Given the description of an element on the screen output the (x, y) to click on. 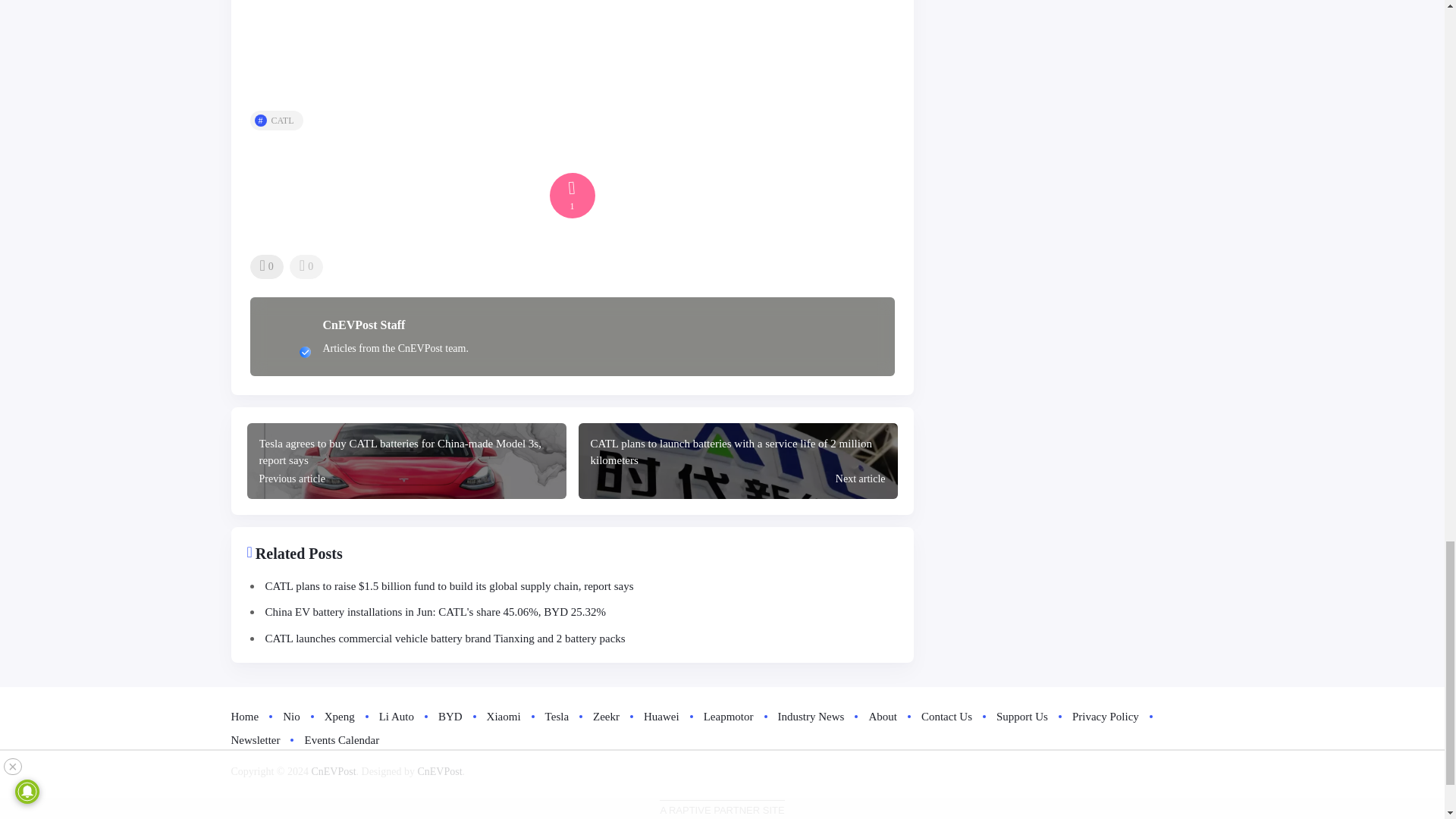
CnEVPost (438, 771)
CnEVPost (333, 771)
